Given the description of an element on the screen output the (x, y) to click on. 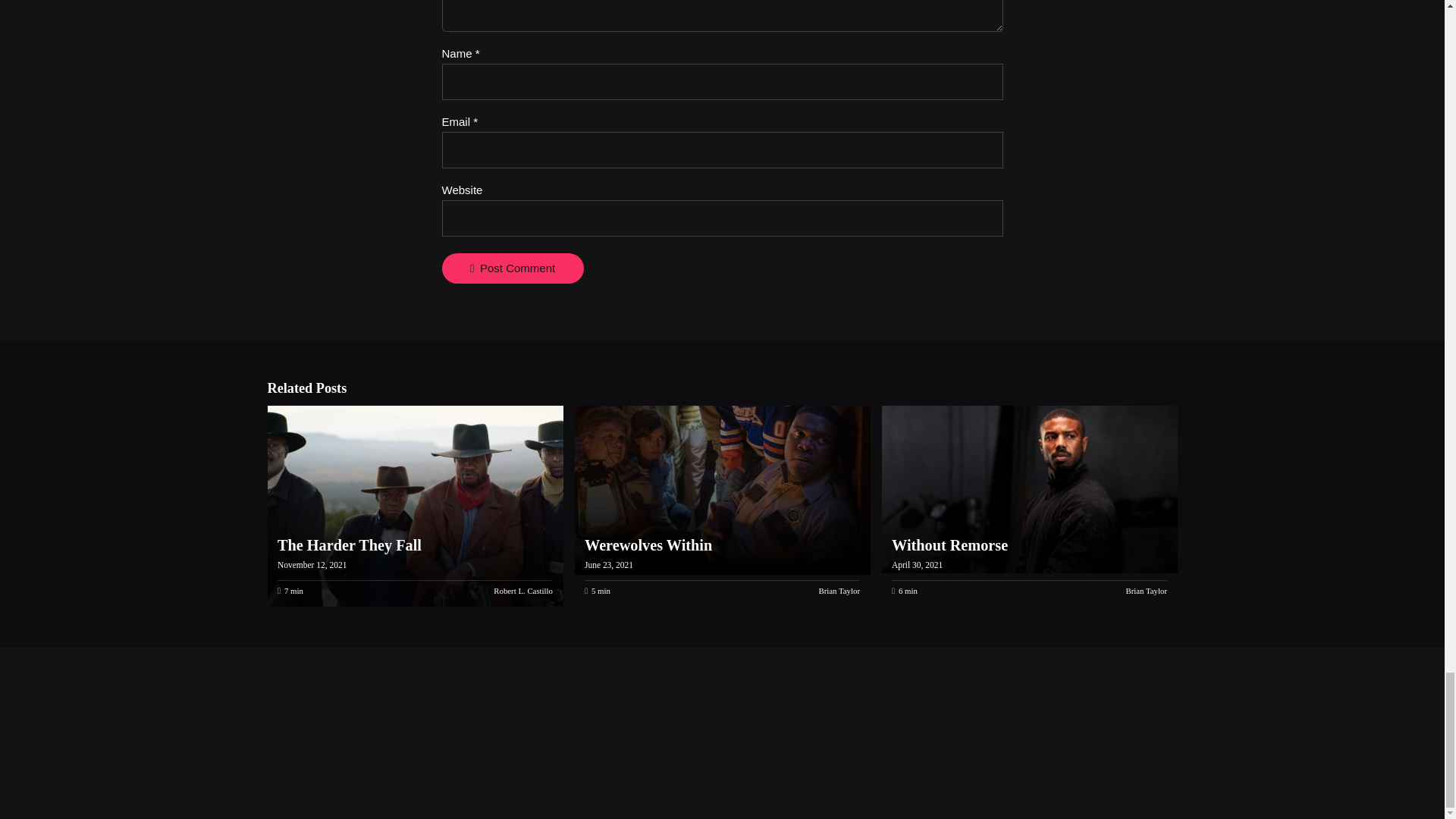
The Harder They Fall (350, 545)
The Harder They Fall (350, 545)
The Harder They Fall (412, 505)
Werewolves Within (648, 545)
Post Comment (512, 268)
Without Remorse (949, 545)
Brian Taylor (1146, 590)
Without Remorse (949, 545)
Werewolves Within (719, 490)
Brian Taylor (839, 590)
